Given the description of an element on the screen output the (x, y) to click on. 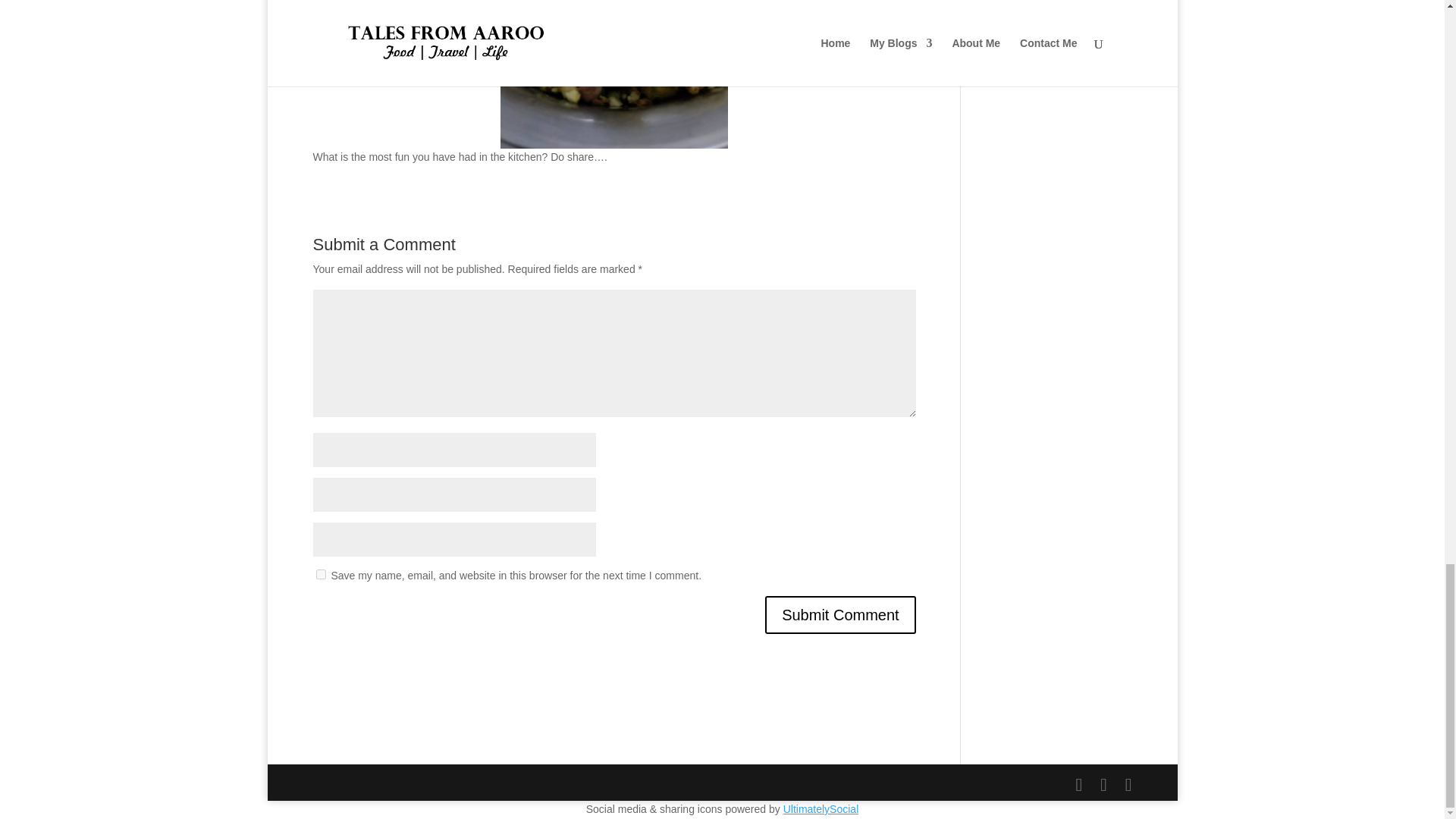
Submit Comment (840, 614)
yes (319, 574)
Submit Comment (840, 614)
